Given the description of an element on the screen output the (x, y) to click on. 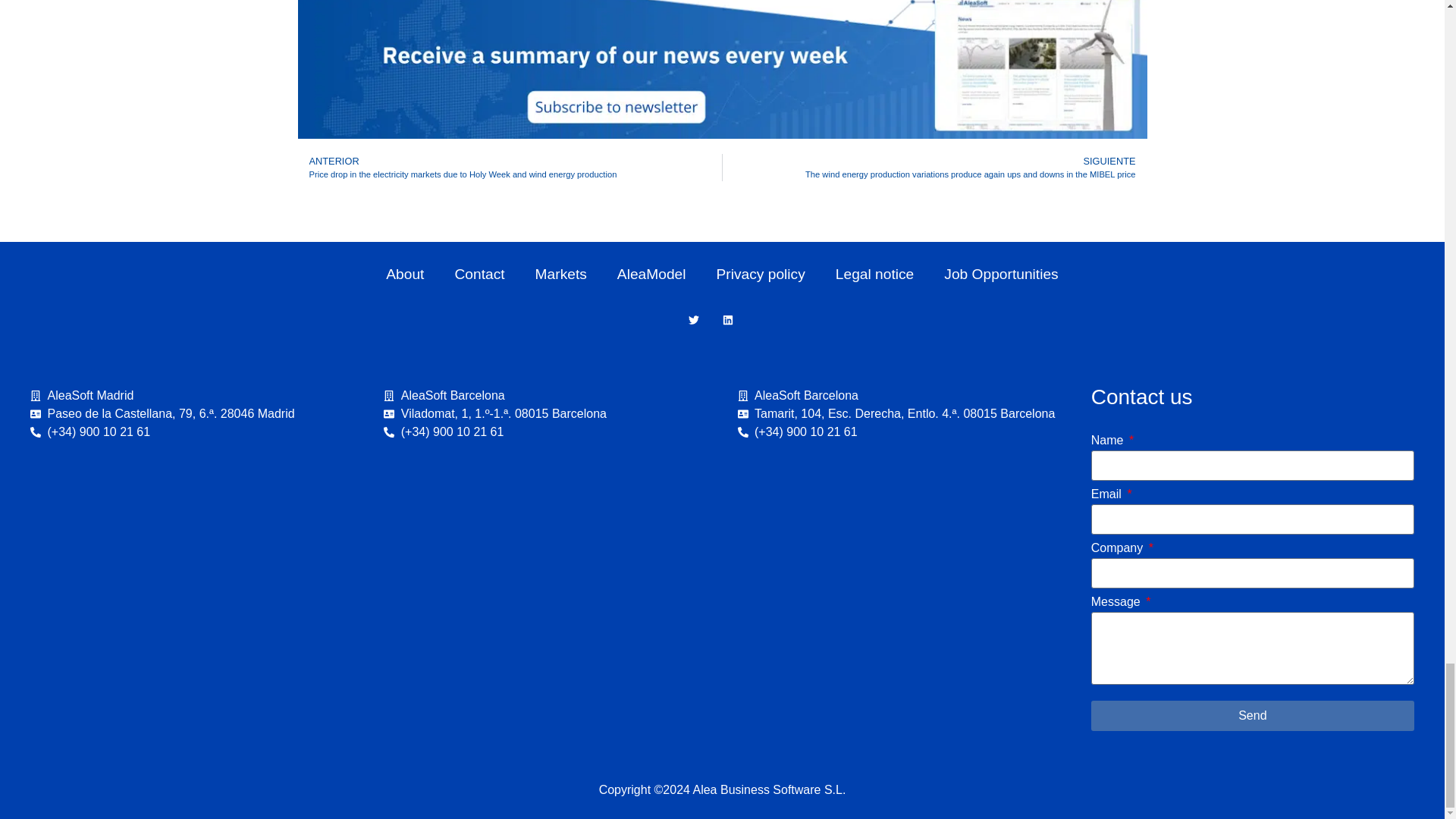
Paseo de la Castellana 79, 28046, Madrid, Spain (191, 569)
Tamarit 104, 08015 (897, 569)
